Given the description of an element on the screen output the (x, y) to click on. 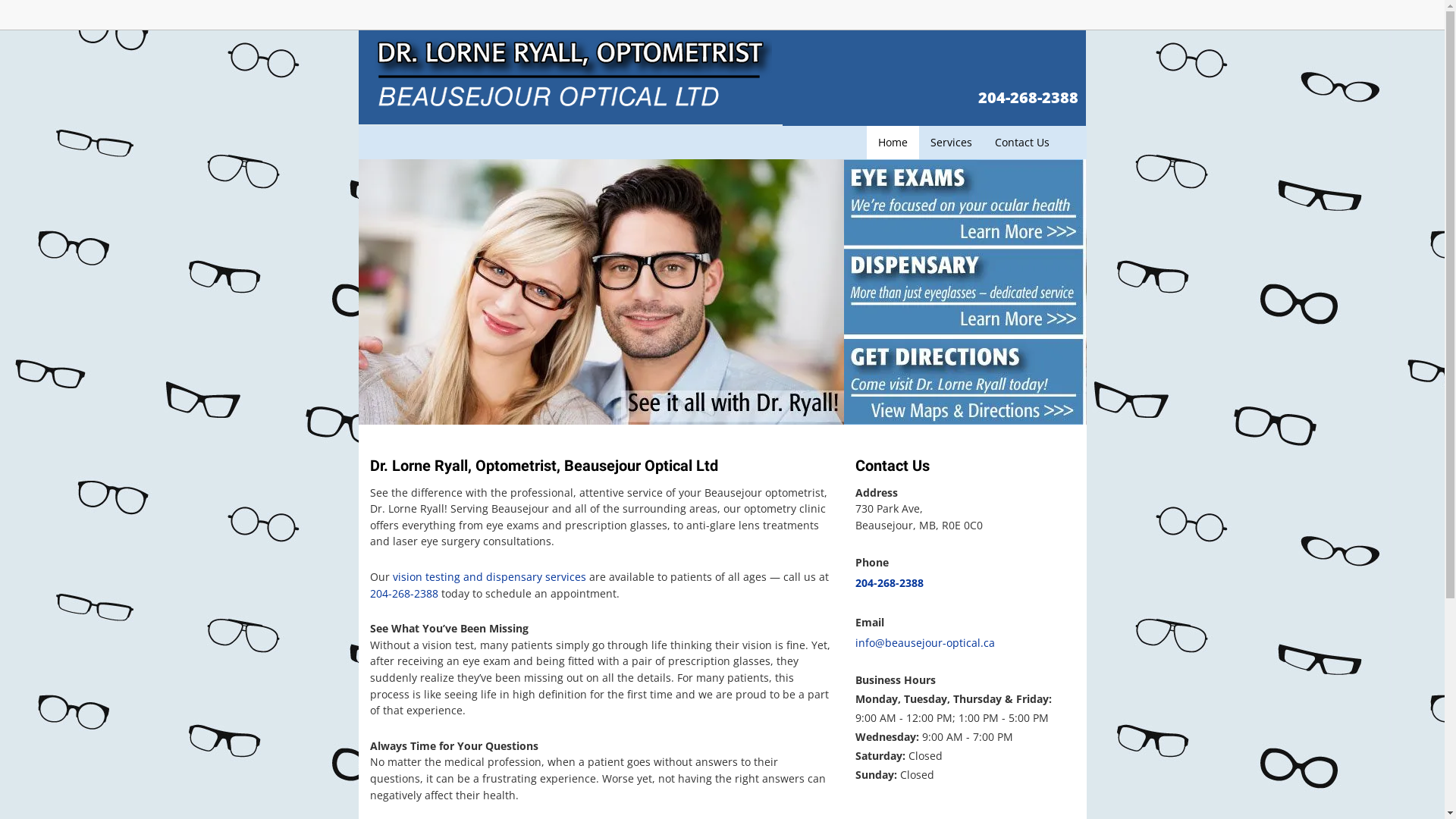
204-268-2388 Element type: text (889, 584)
Embedded Content Element type: hover (933, 18)
204-268-2388 Element type: text (1028, 97)
Contact Us Element type: text (1021, 142)
204-268-2388 Element type: text (404, 594)
Embedded Content Element type: hover (1069, 19)
Services Element type: text (951, 142)
Home Element type: text (892, 142)
vision testing and dispensary services Element type: text (487, 576)
info@beausejour-optical.ca Element type: text (924, 644)
